Given the description of an element on the screen output the (x, y) to click on. 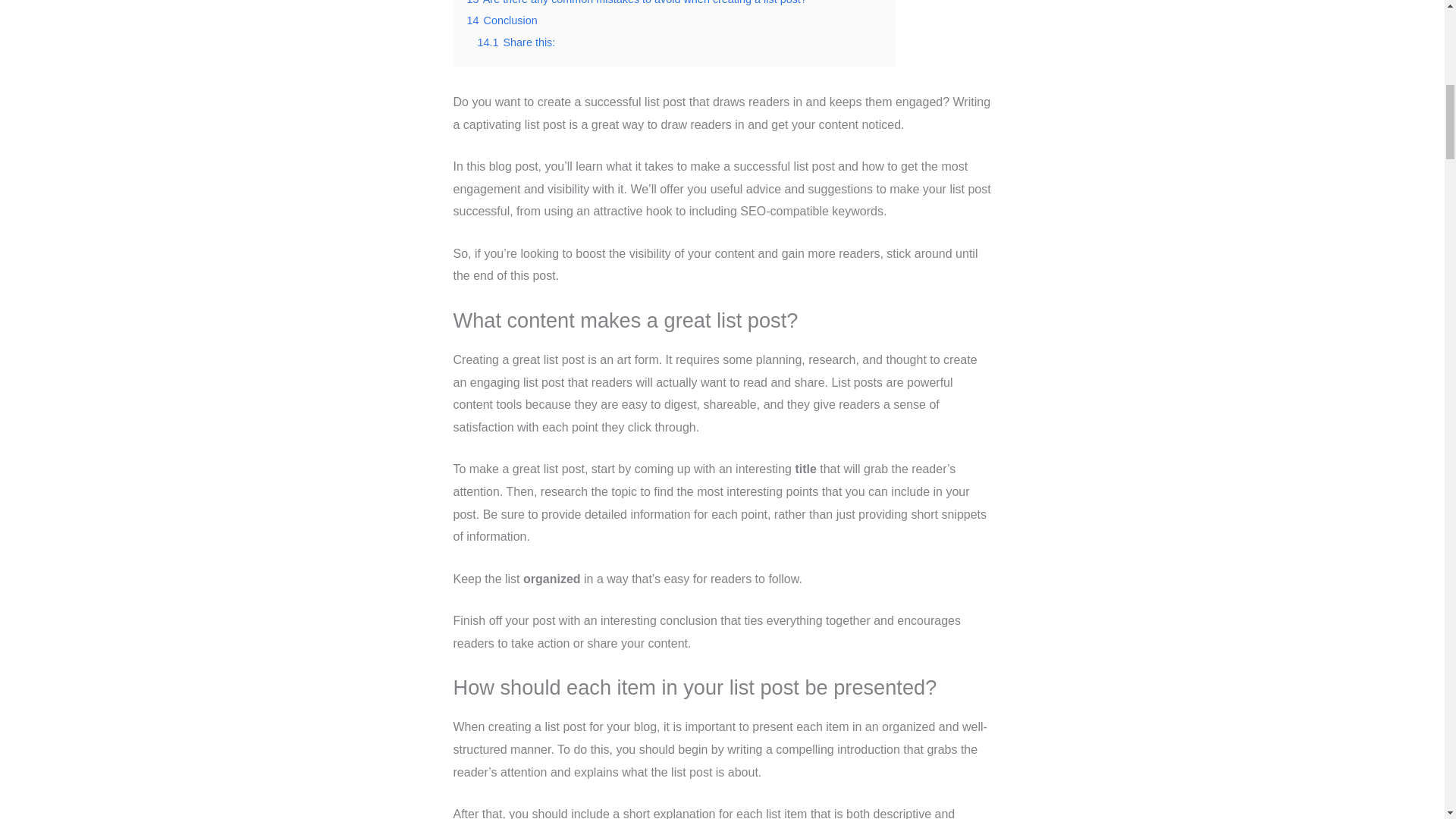
14 Conclusion (502, 20)
14.1 Share this: (516, 42)
